Given the description of an element on the screen output the (x, y) to click on. 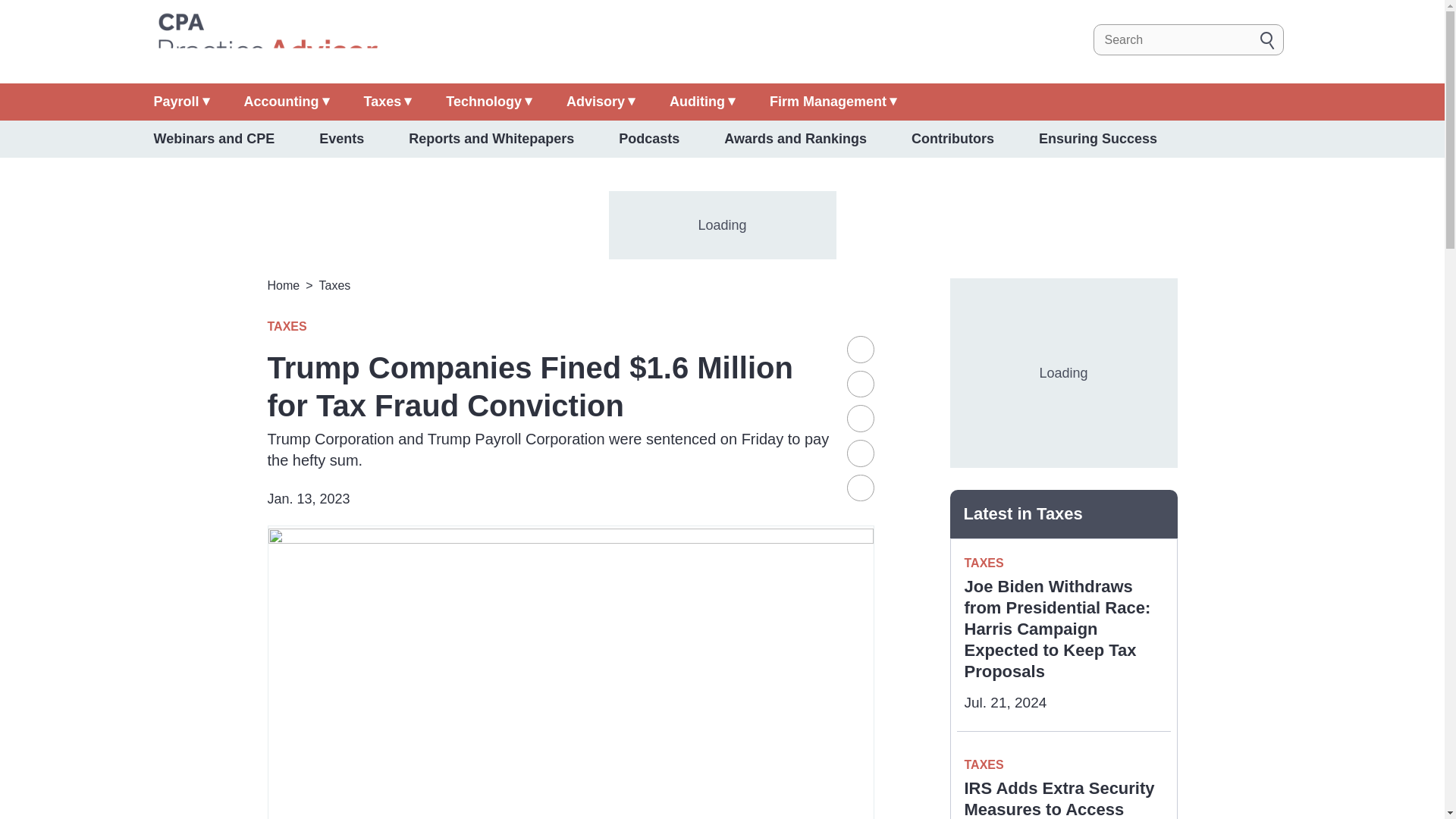
Taxes (388, 101)
Advisory (600, 101)
Technology (488, 101)
Accounting (287, 101)
Home (266, 39)
Auditing (702, 101)
Payroll (180, 101)
